Given the description of an element on the screen output the (x, y) to click on. 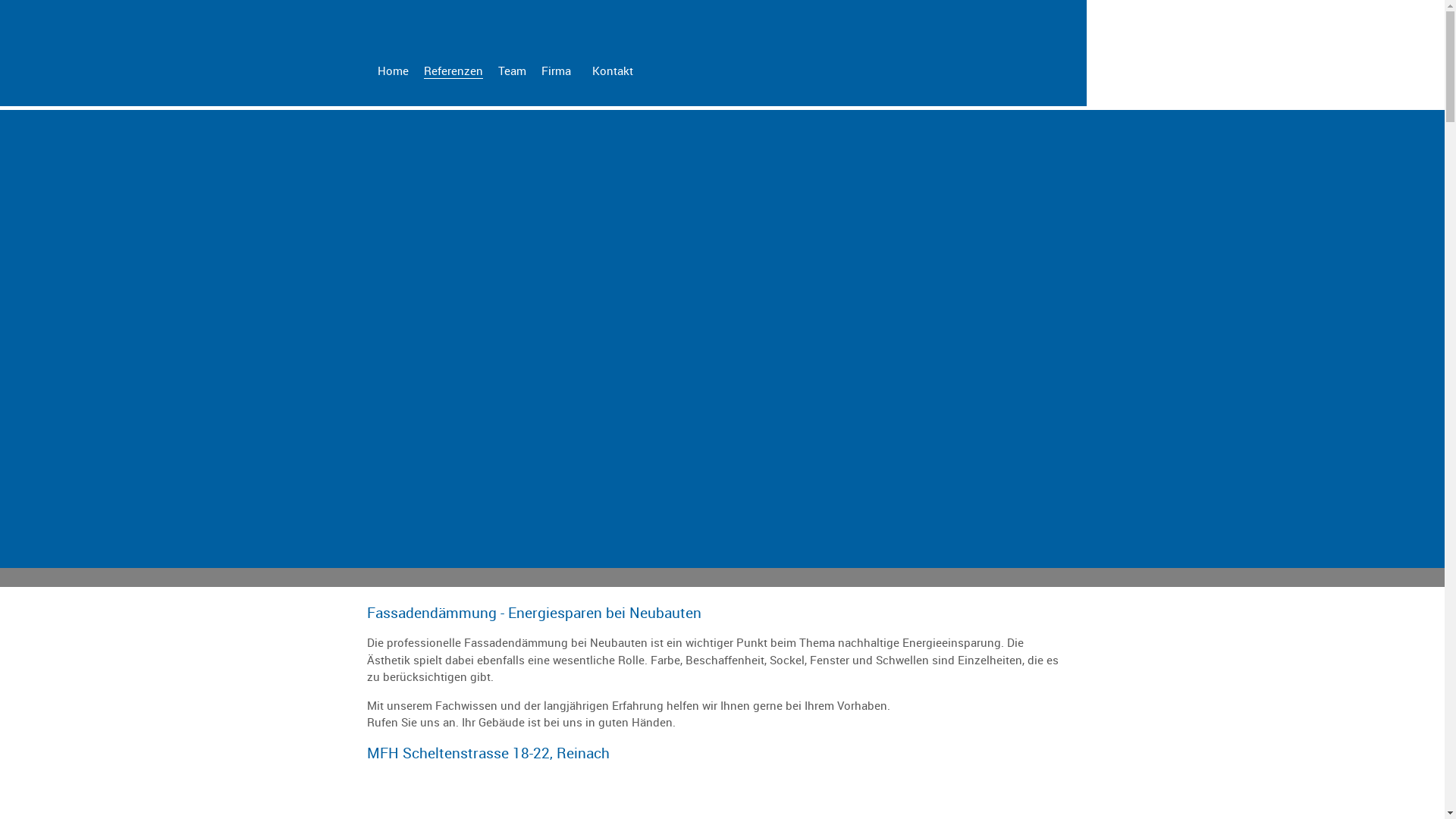
Referenzen Element type: text (452, 70)
Home Element type: text (392, 70)
Kontakt Element type: text (611, 70)
Firma Element type: text (556, 70)
Team Element type: text (511, 70)
